Given the description of an element on the screen output the (x, y) to click on. 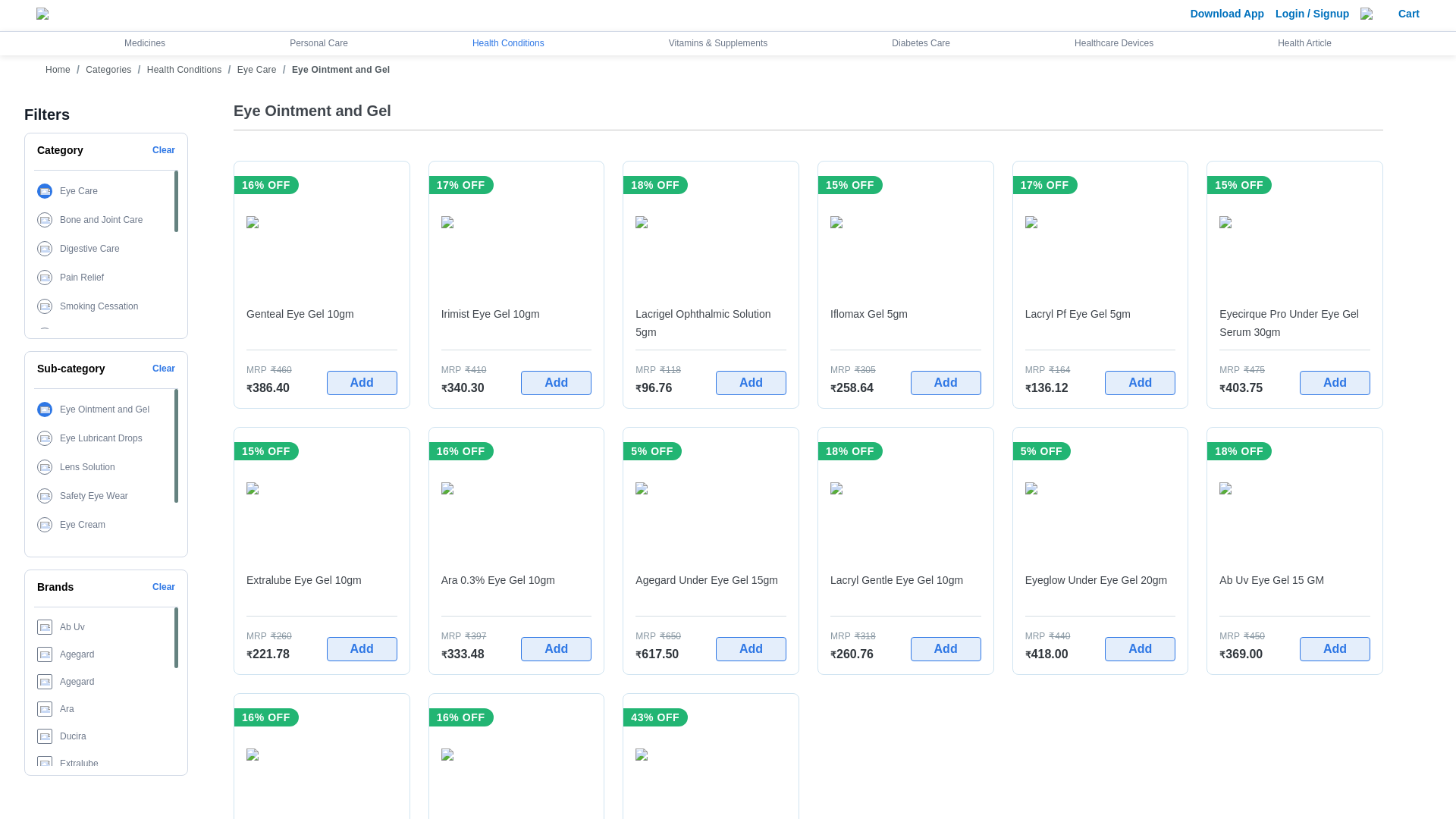
Iflomax Gel 5gm (905, 250)
Irimist Eye Gel 10gm (516, 323)
Irimist Eye Gel 10gm (516, 250)
Download App (1227, 13)
Lacrigel Ophthalmic Solution 5gm (710, 323)
Personal Care (318, 43)
Agegard Under Eye Gel 15gm (710, 589)
Agegard Under Eye Gel 15gm (710, 517)
Extralube Eye Gel 10gm (321, 589)
Lacrigel Ophthalmic Solution 5gm (710, 250)
Genteal Eye Gel 10gm (321, 323)
Eyecirque Pro Under Eye Gel Serum 30gm (1295, 323)
Cart (1408, 13)
Lacryl Pf Eye Gel 5gm (1100, 323)
Lacryl Gentle Eye Gel 10gm (905, 589)
